Given the description of an element on the screen output the (x, y) to click on. 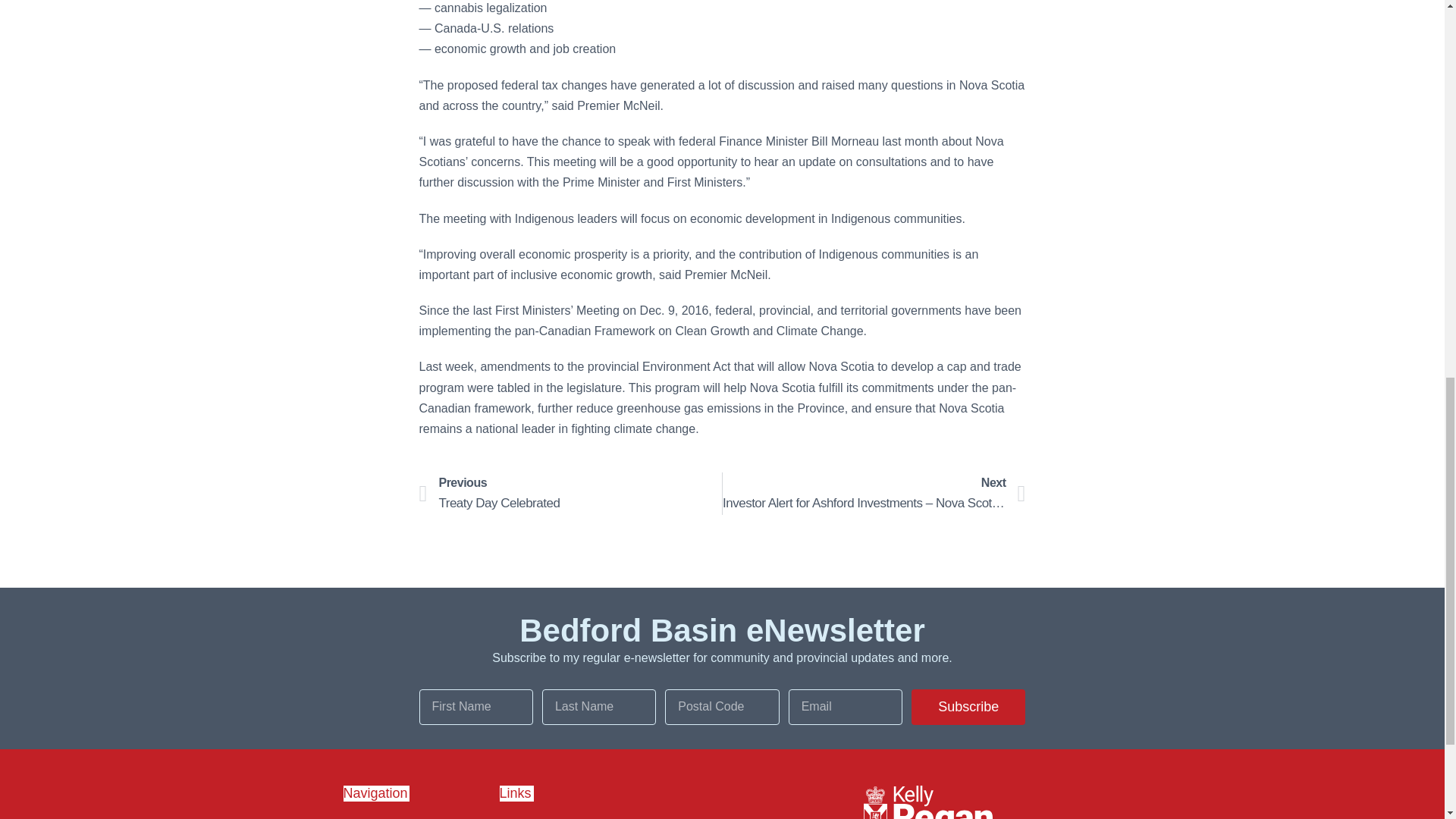
Subscribe (968, 706)
Meet Kelly (417, 817)
